Given the description of an element on the screen output the (x, y) to click on. 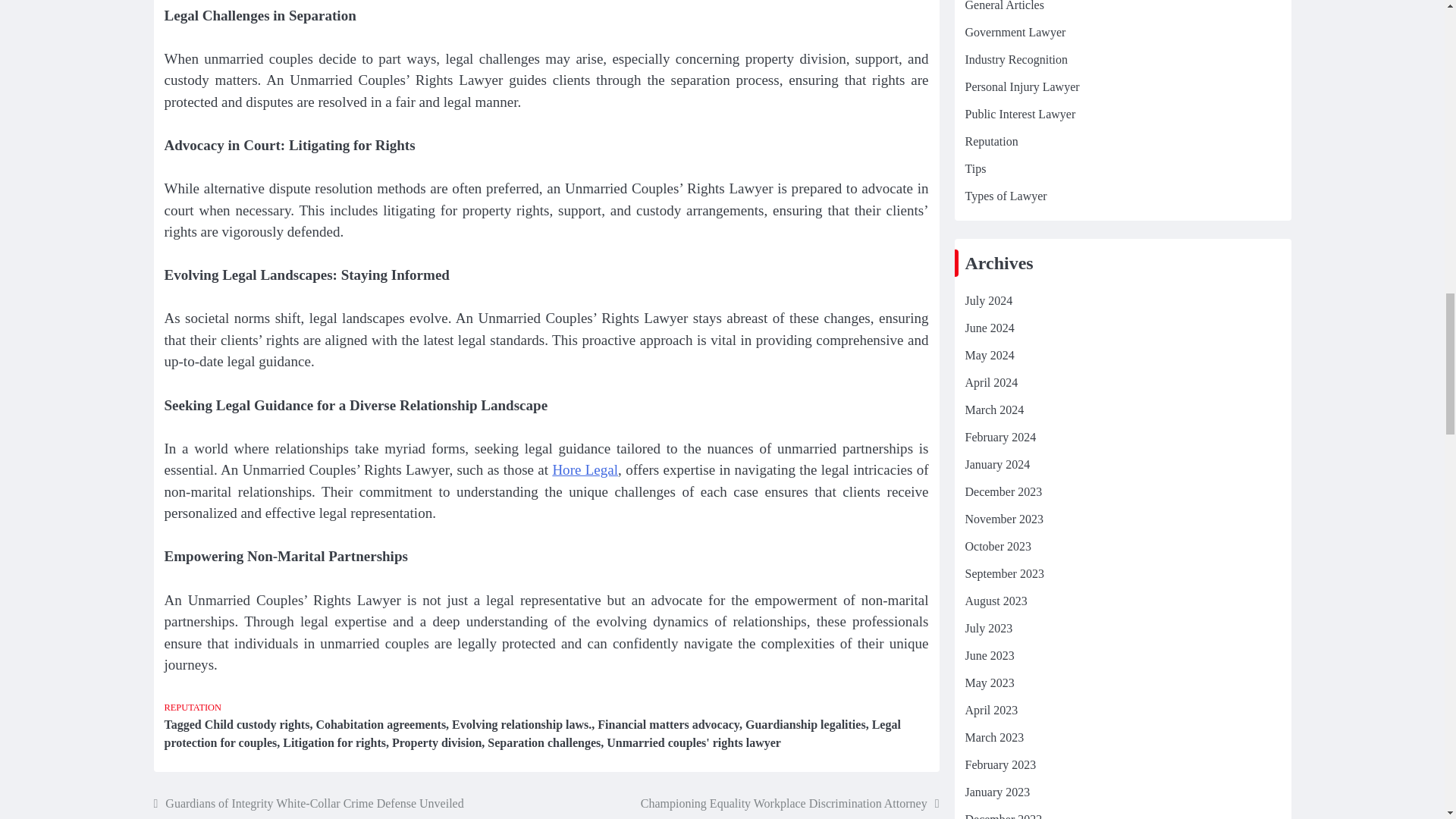
Child custody rights (257, 724)
Hore Legal (584, 469)
Financial matters advocacy (667, 724)
Evolving relationship laws. (521, 724)
REPUTATION (192, 706)
Cohabitation agreements (380, 724)
